Given the description of an element on the screen output the (x, y) to click on. 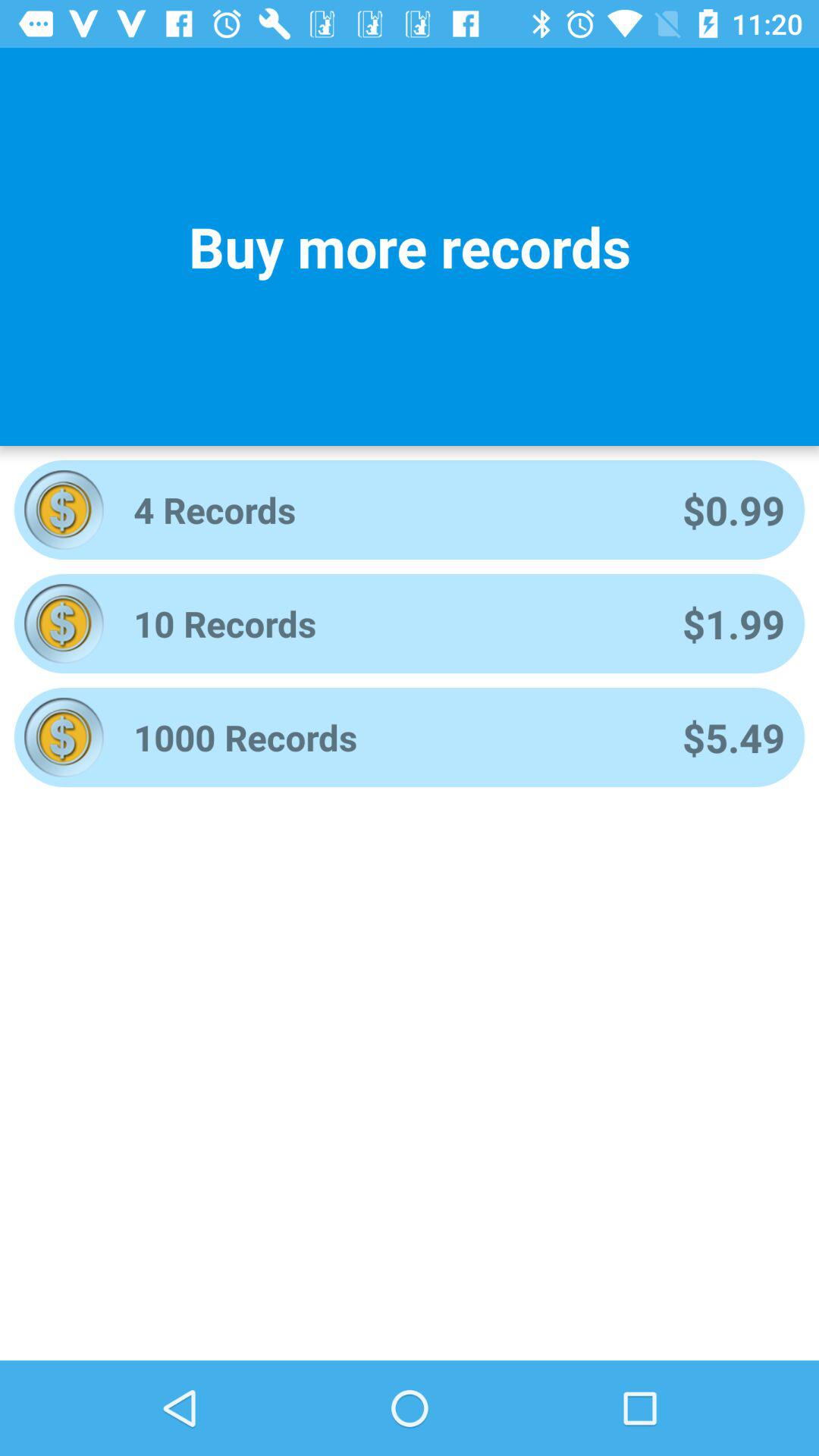
turn on item next to the $5.49 app (387, 736)
